Given the description of an element on the screen output the (x, y) to click on. 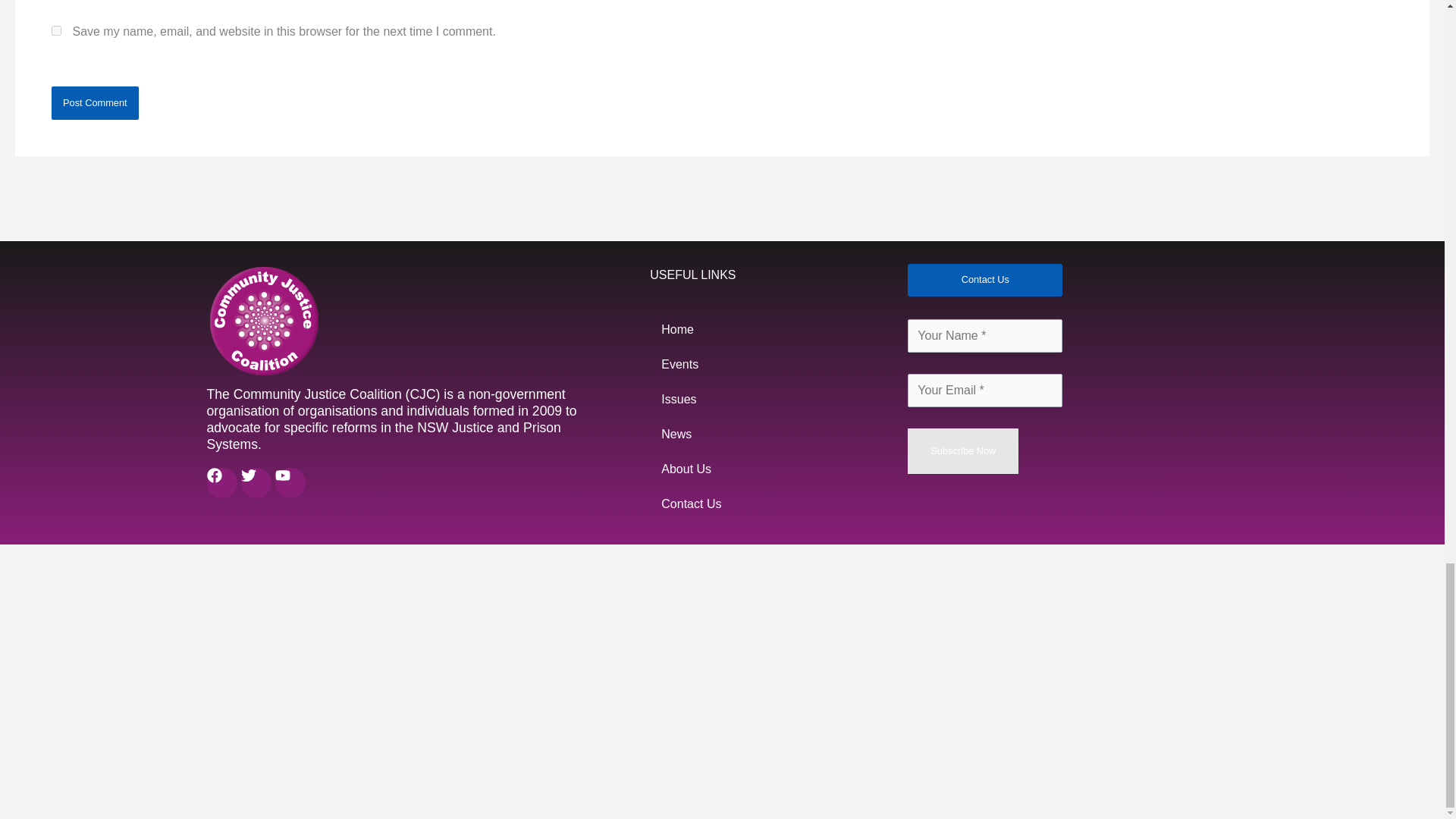
yes (55, 30)
Post Comment (94, 102)
Subscribe Now (962, 451)
